Given the description of an element on the screen output the (x, y) to click on. 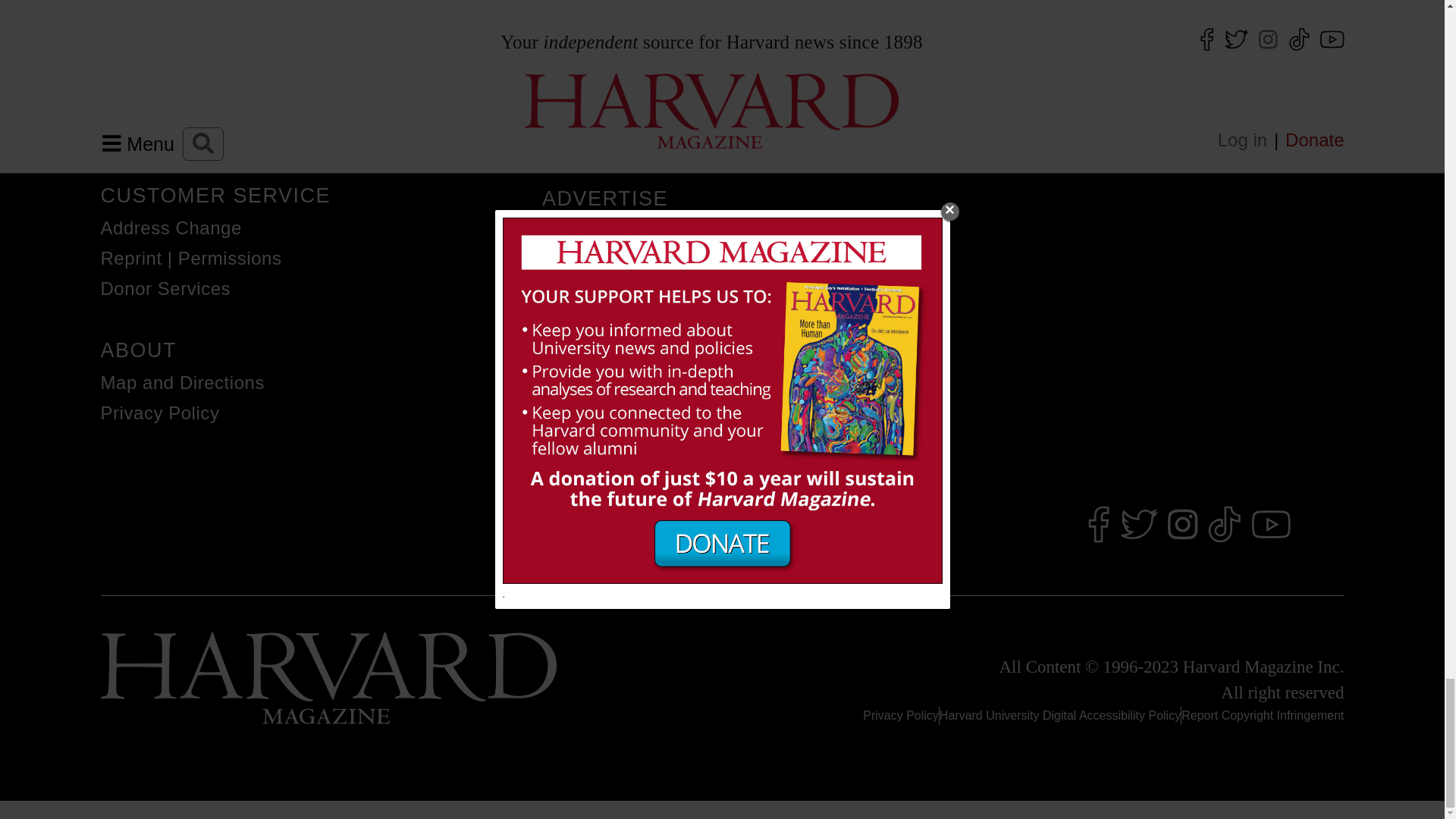
facebook (1098, 525)
